Given the description of an element on the screen output the (x, y) to click on. 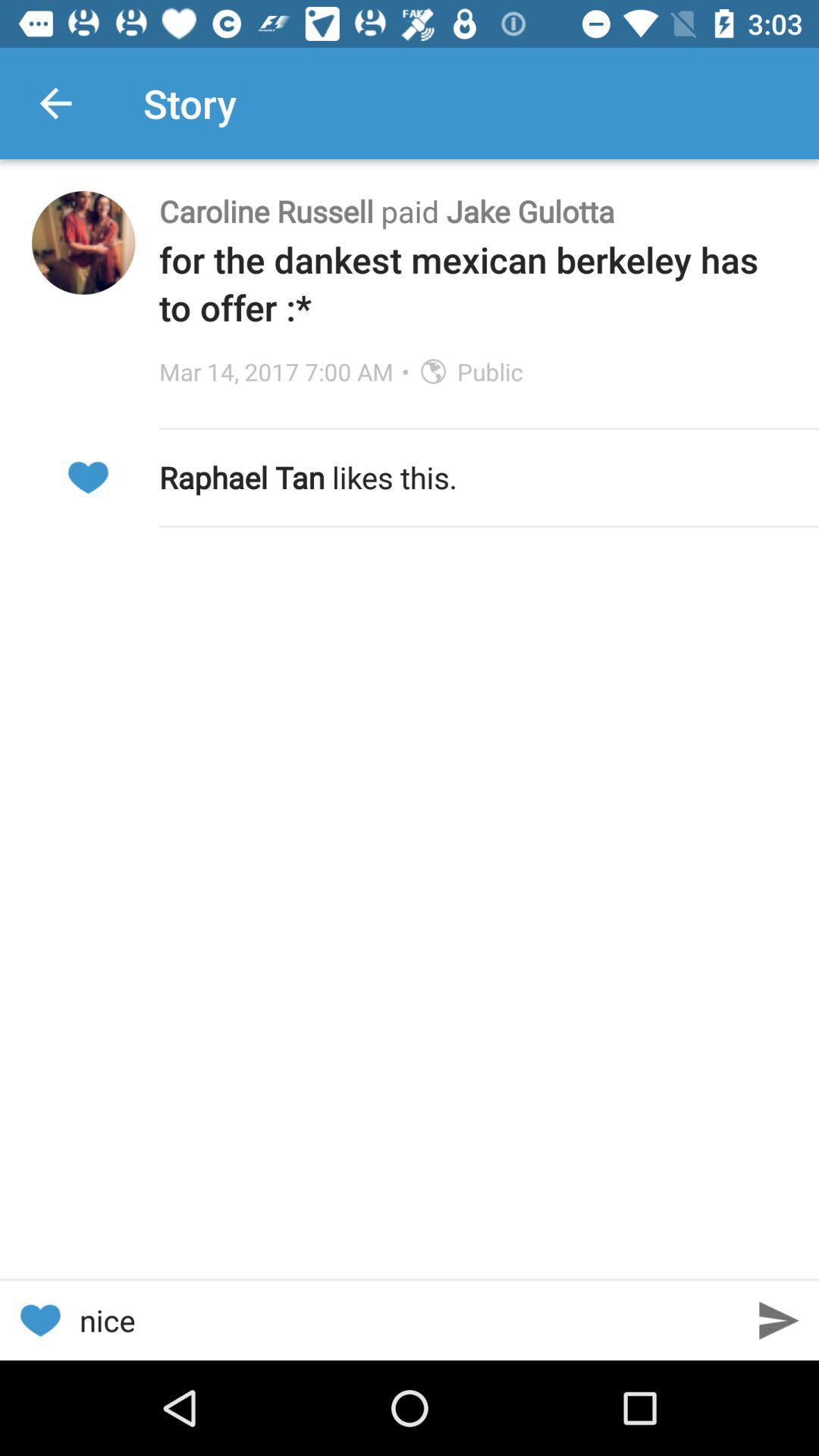
like this post (39, 1320)
